Given the description of an element on the screen output the (x, y) to click on. 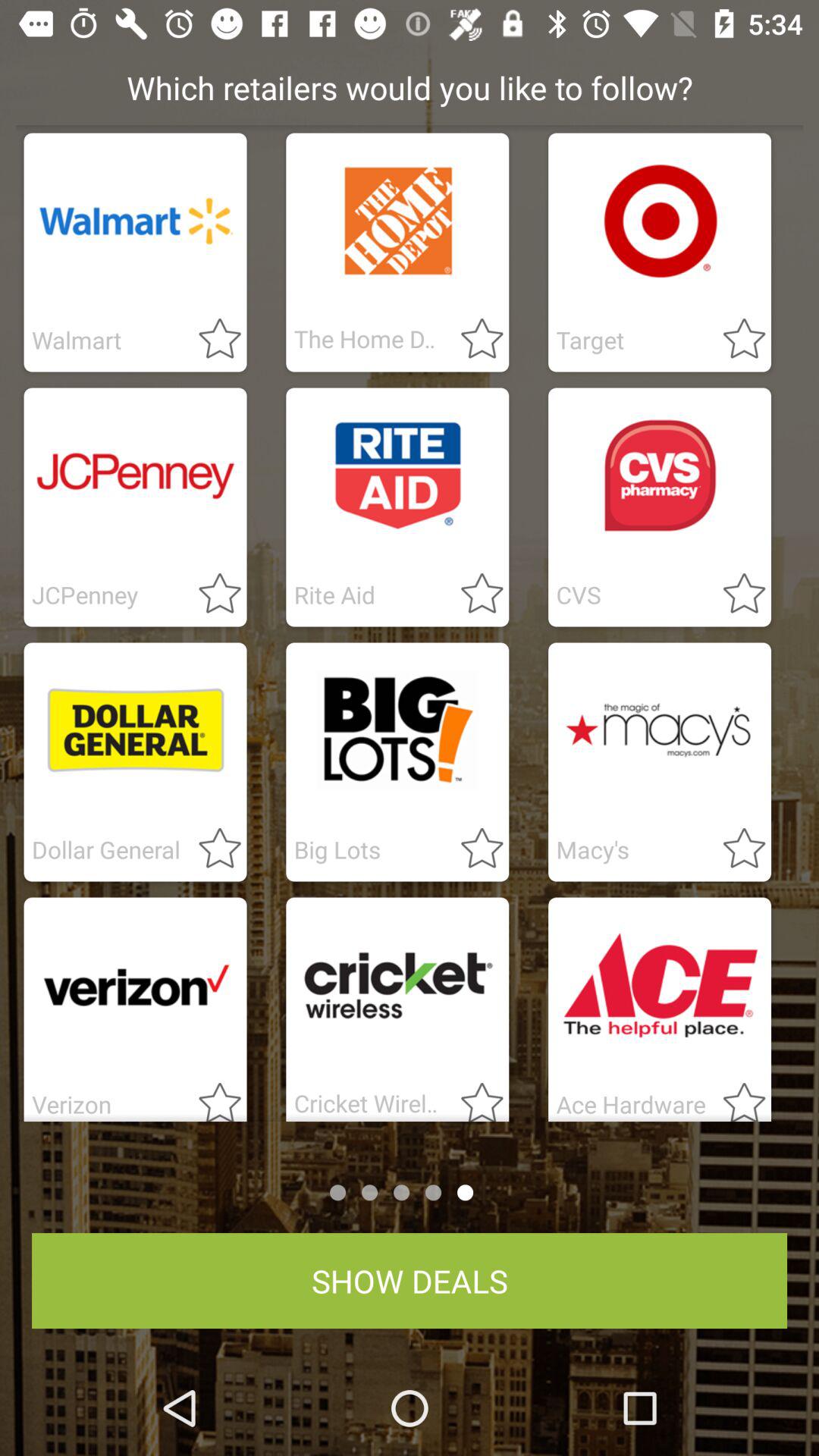
toggle as favorite (210, 1096)
